Given the description of an element on the screen output the (x, y) to click on. 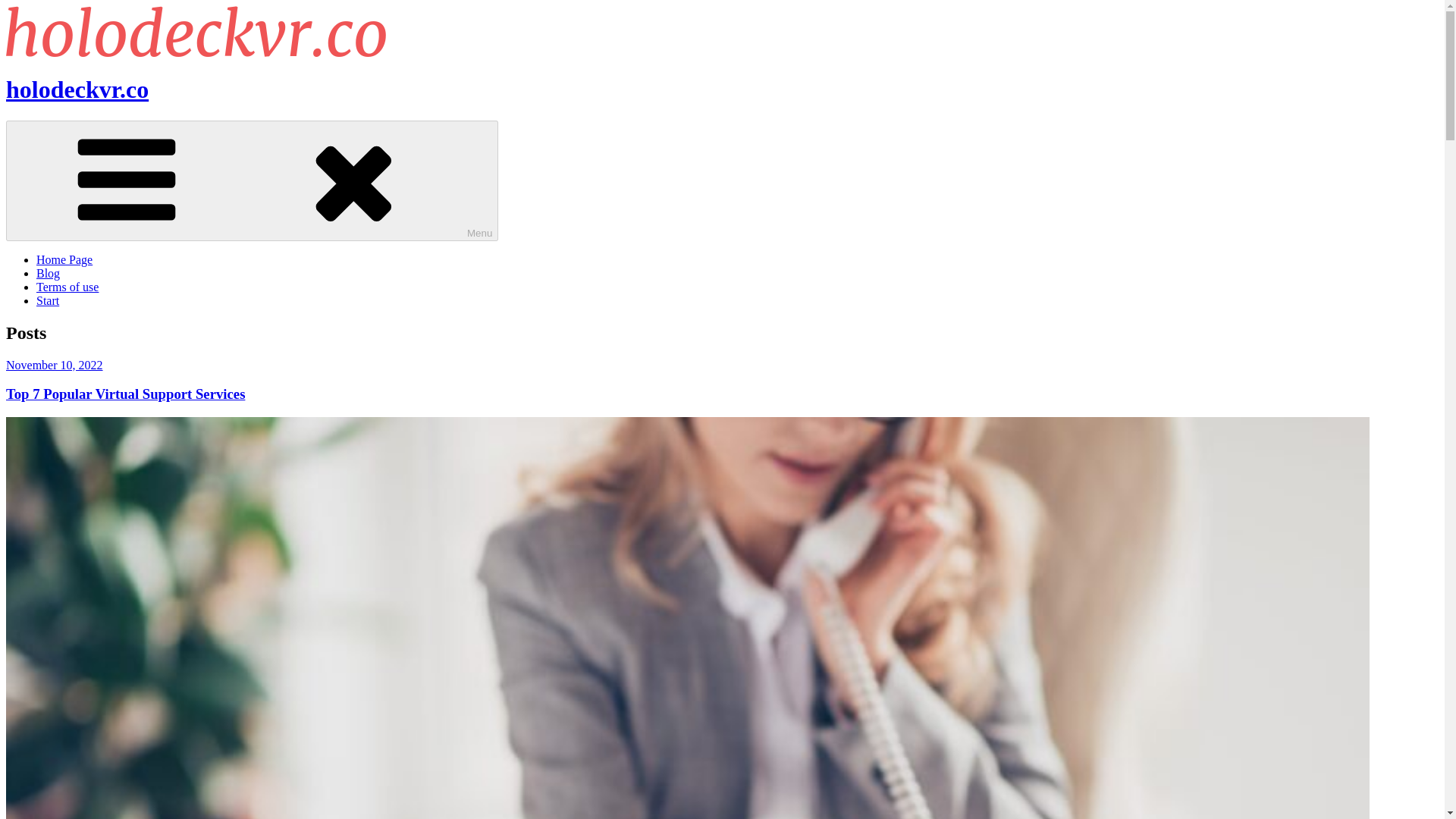
Menu (251, 180)
Start (47, 300)
Terms of use (67, 286)
November 10, 2022 (54, 364)
holodeckvr.co (76, 89)
Blog (47, 273)
Top 7 Popular Virtual Support Services (124, 393)
Home Page (64, 259)
